Given the description of an element on the screen output the (x, y) to click on. 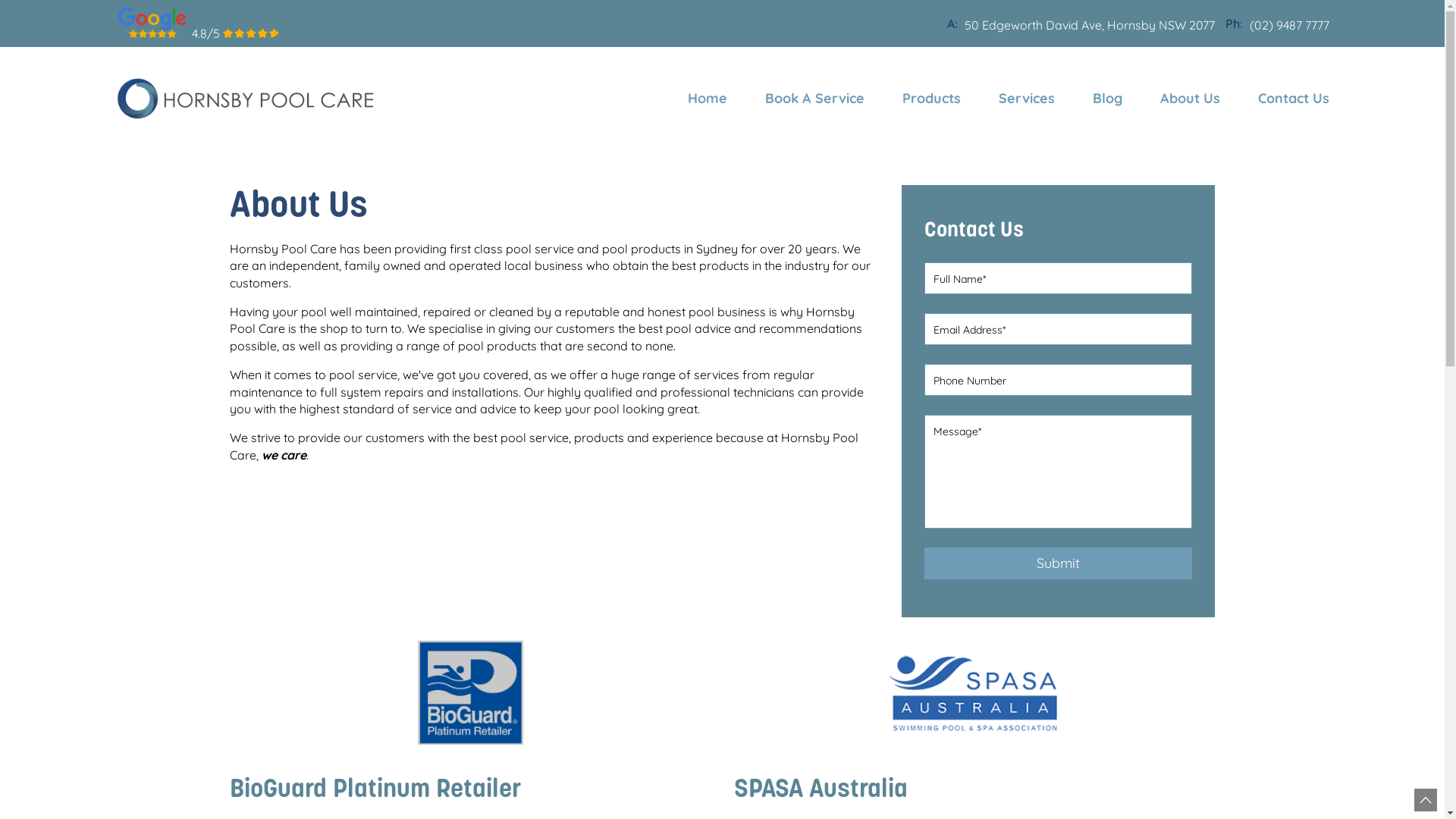
50 Edgeworth David Ave, Hornsby NSW 2077 Element type: text (1089, 25)
4.8/5 Element type: text (196, 24)
About Us Element type: text (1189, 98)
(02) 9487 7777 Element type: text (1289, 25)
Blog Element type: text (1107, 98)
Contact Us Element type: text (1284, 98)
Submit Element type: text (1058, 563)
Book A Service Element type: text (814, 98)
Home Element type: text (707, 98)
Services Element type: text (1026, 98)
Products Element type: text (930, 98)
